Given the description of an element on the screen output the (x, y) to click on. 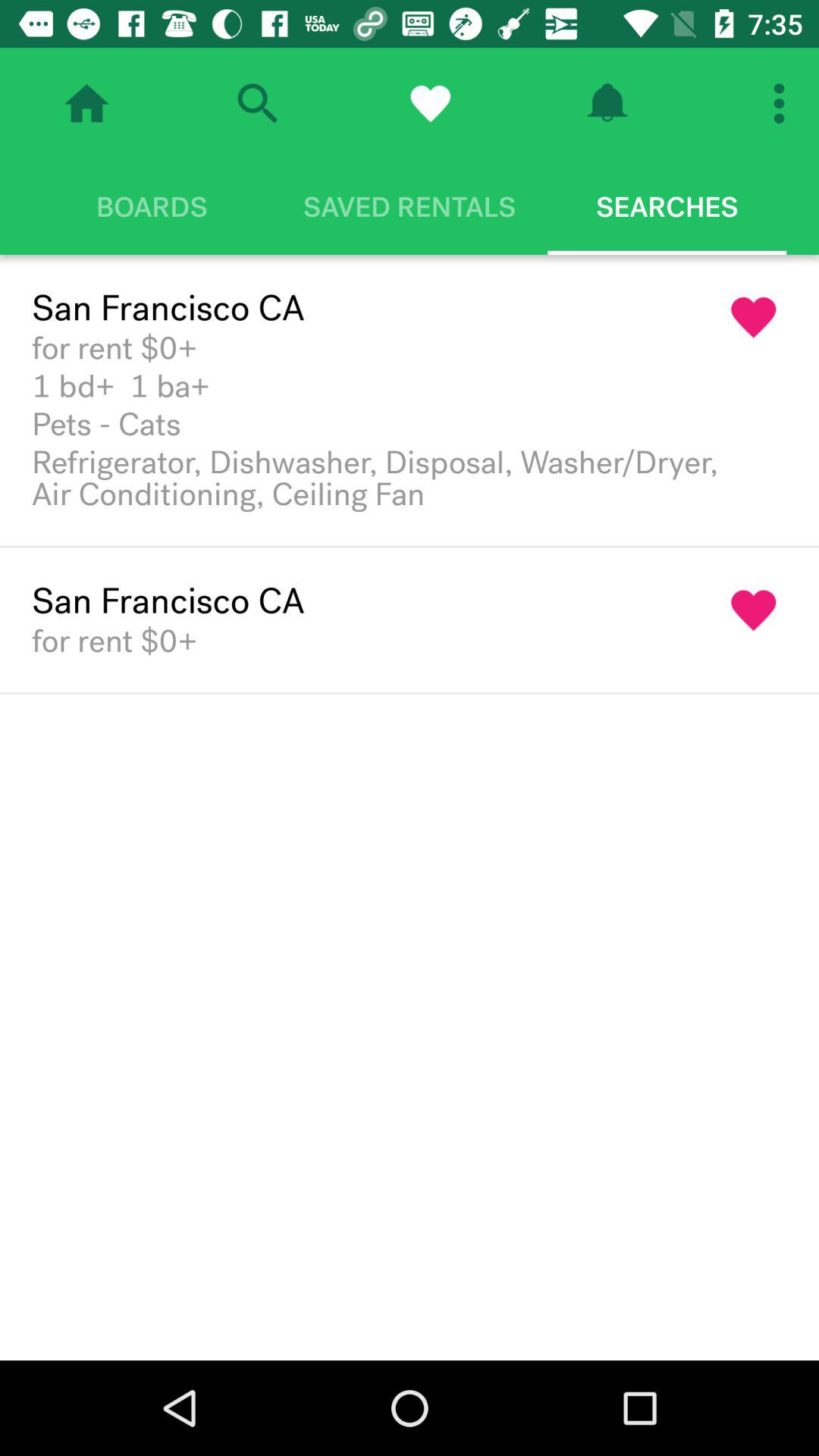
go to favorites (429, 103)
